Given the description of an element on the screen output the (x, y) to click on. 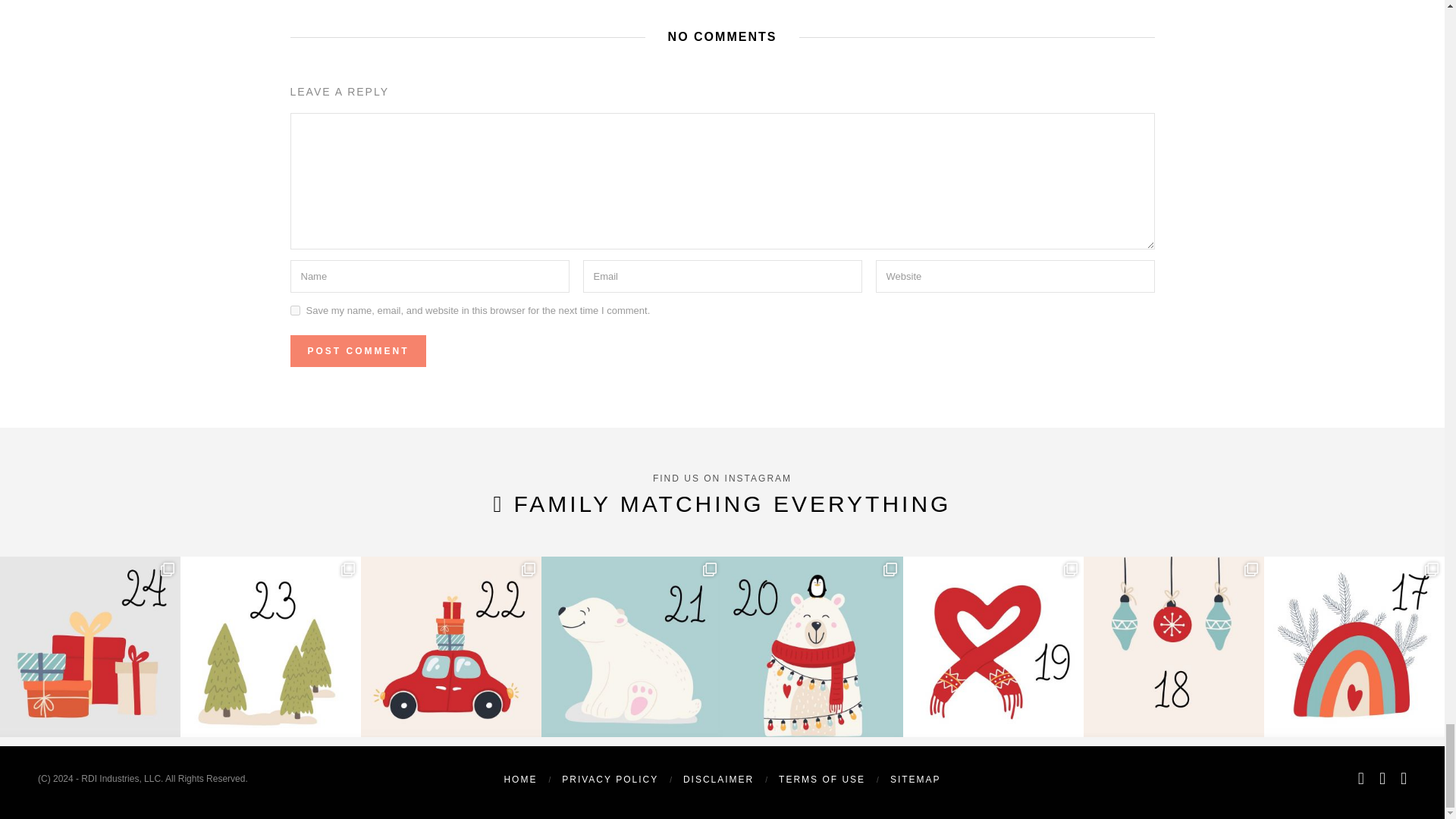
yes (294, 310)
Post Comment (357, 350)
